Given the description of an element on the screen output the (x, y) to click on. 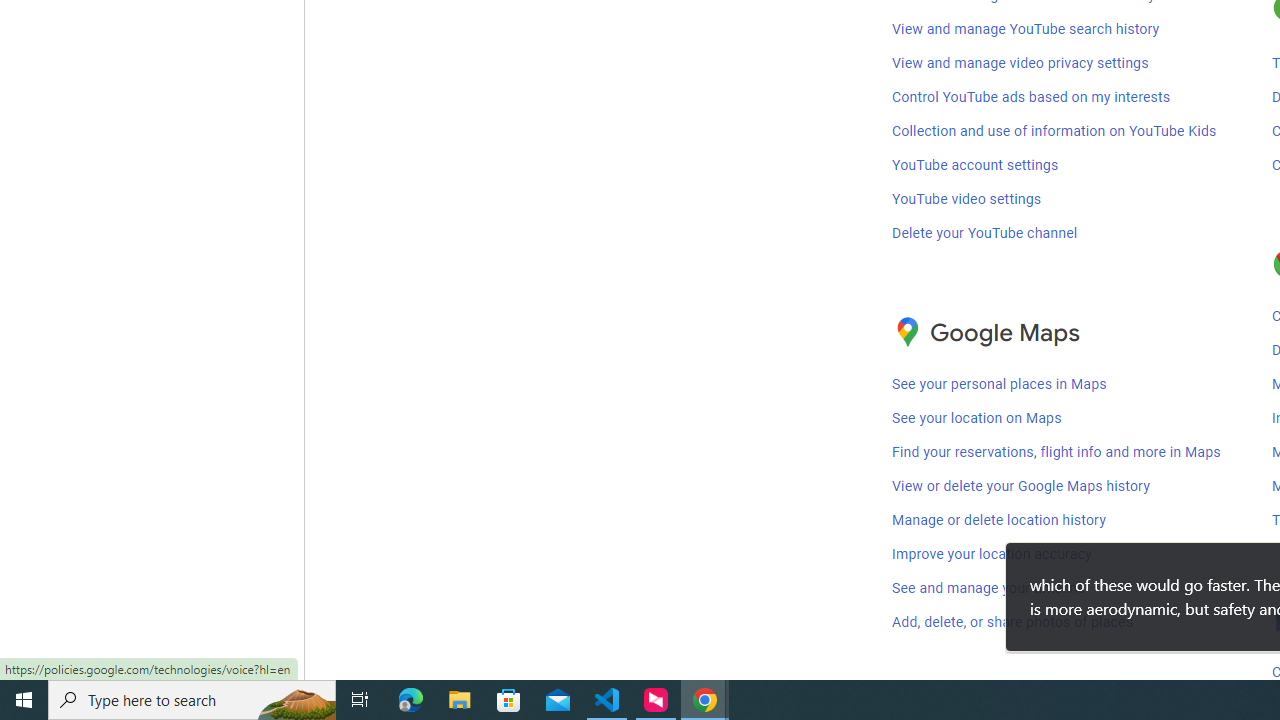
YouTube video settings (966, 199)
Delete your YouTube channel (984, 232)
Collection and use of information on YouTube Kids (1054, 130)
See your personal places in Maps (999, 384)
Manage or delete location history (998, 520)
Find your reservations, flight info and more in Maps (1056, 453)
See your location on Maps (977, 418)
View or delete your Google Maps history (1020, 487)
Improve your location accuracy (991, 554)
See and manage your timeline (988, 589)
View and manage video privacy settings (1020, 63)
View and manage YouTube search history (1025, 29)
Control YouTube ads based on my interests (1031, 96)
YouTube account settings (975, 165)
